Given the description of an element on the screen output the (x, y) to click on. 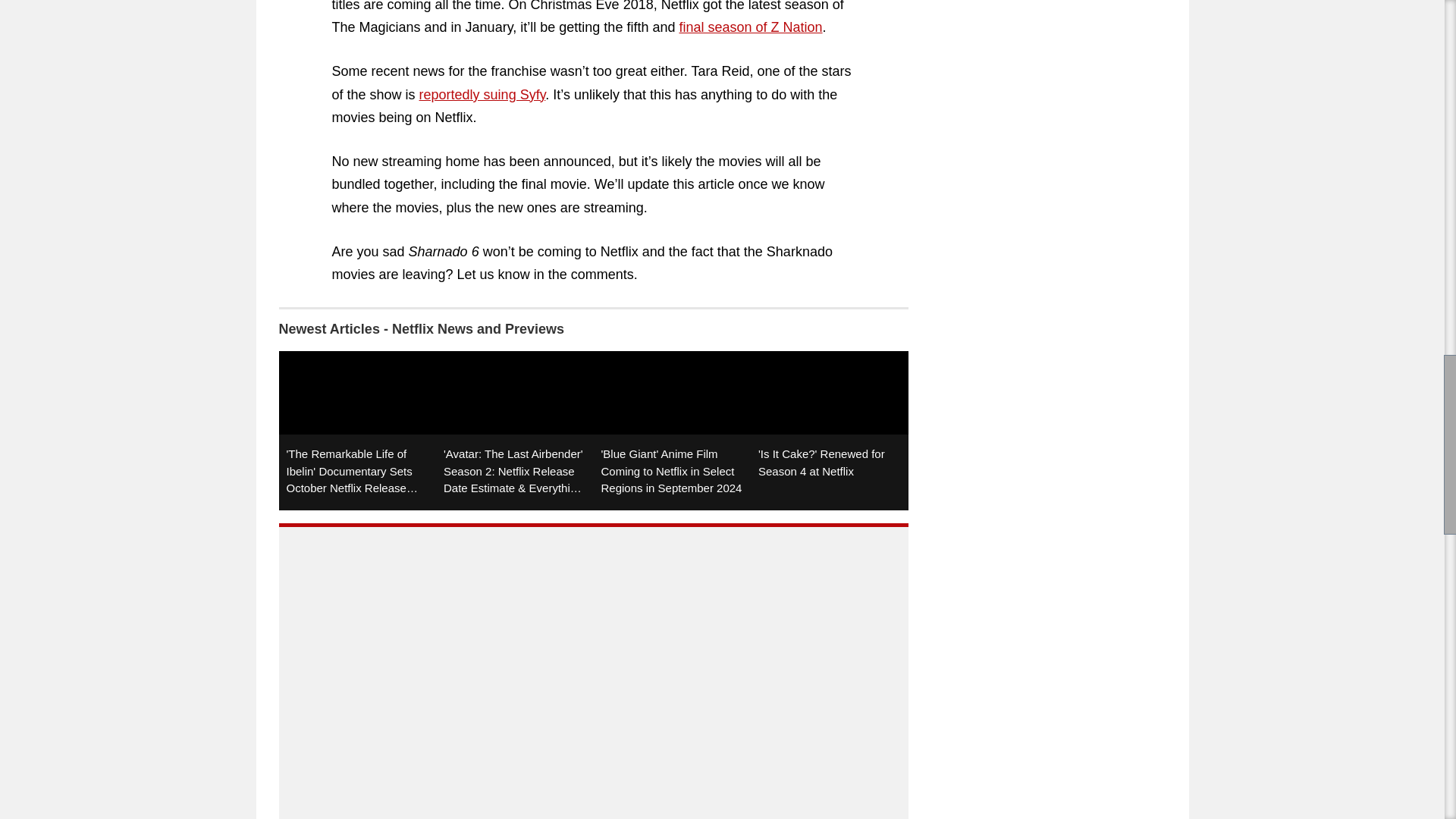
'Is It Cake?' Renewed for Season 4 at Netflix (829, 430)
reportedly suing Syfy (482, 94)
'Is It Cake?' Renewed for Season 4 at Netflix (829, 430)
final season of Z Nation (750, 27)
